Given the description of an element on the screen output the (x, y) to click on. 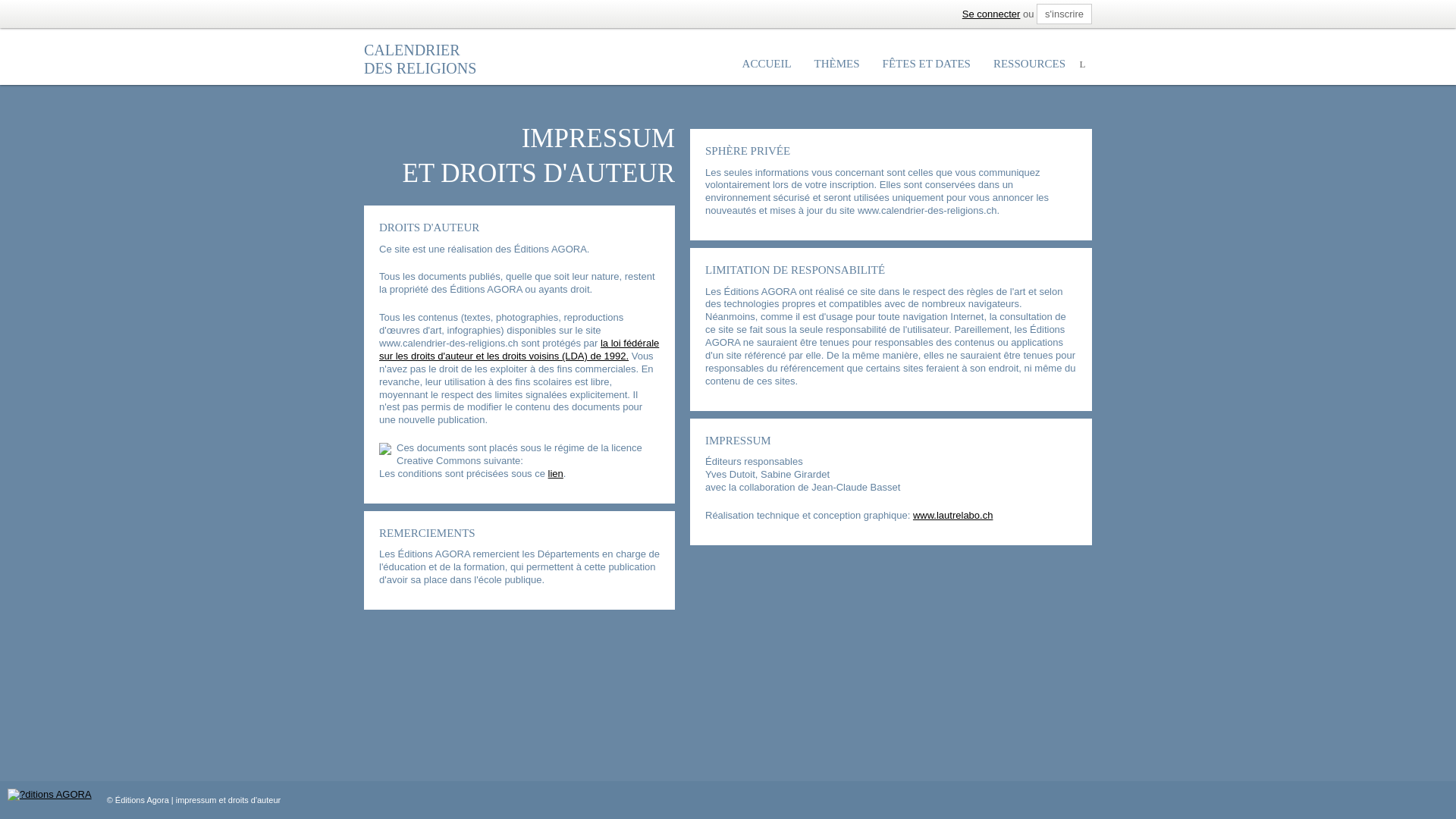
CALENDRIER
DES RELIGIONS Element type: text (420, 58)
RESSOURCES Element type: text (1029, 64)
ACCUEIL Element type: text (766, 64)
L Element type: text (1082, 63)
www.lautrelabo.ch Element type: text (953, 514)
Se connecter Element type: text (991, 13)
impressum et droits d'auteur Element type: text (227, 799)
lien Element type: text (555, 473)
s'inscrire Element type: text (1064, 13)
